Given the description of an element on the screen output the (x, y) to click on. 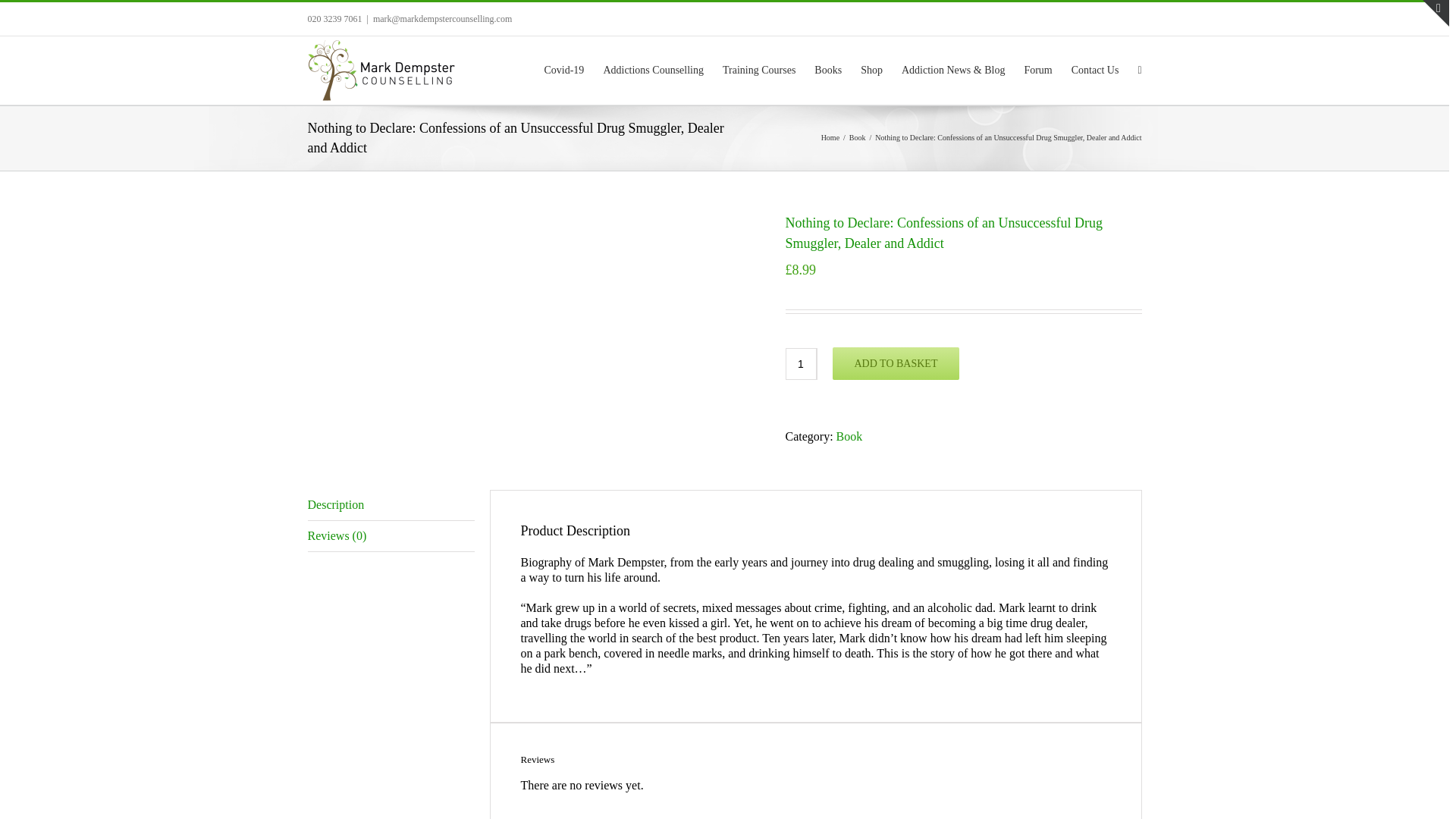
Addictions Counselling (652, 68)
1 (800, 363)
Shop (871, 68)
Covid-19 (563, 68)
Contact Us (1095, 68)
Training Courses (758, 68)
Books (827, 68)
Forum (1037, 68)
